Given the description of an element on the screen output the (x, y) to click on. 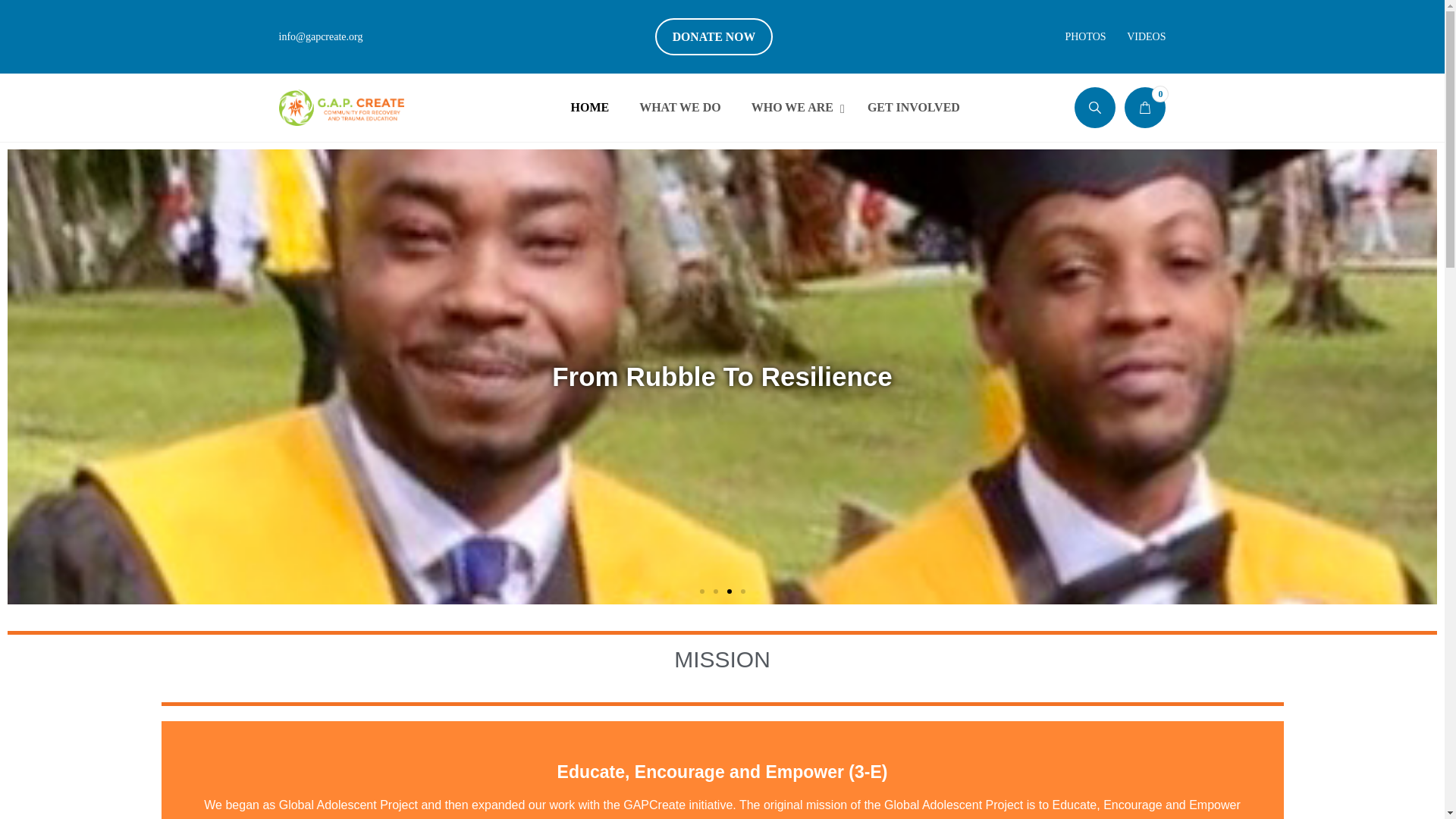
0 (764, 107)
VIDEOS (1145, 106)
PHOTOS (1146, 36)
WHAT WE DO (1084, 36)
DONATE NOW (680, 107)
GET INVOLVED (714, 36)
Search (913, 107)
HOME (1061, 187)
WHO WE ARE (589, 107)
